Given the description of an element on the screen output the (x, y) to click on. 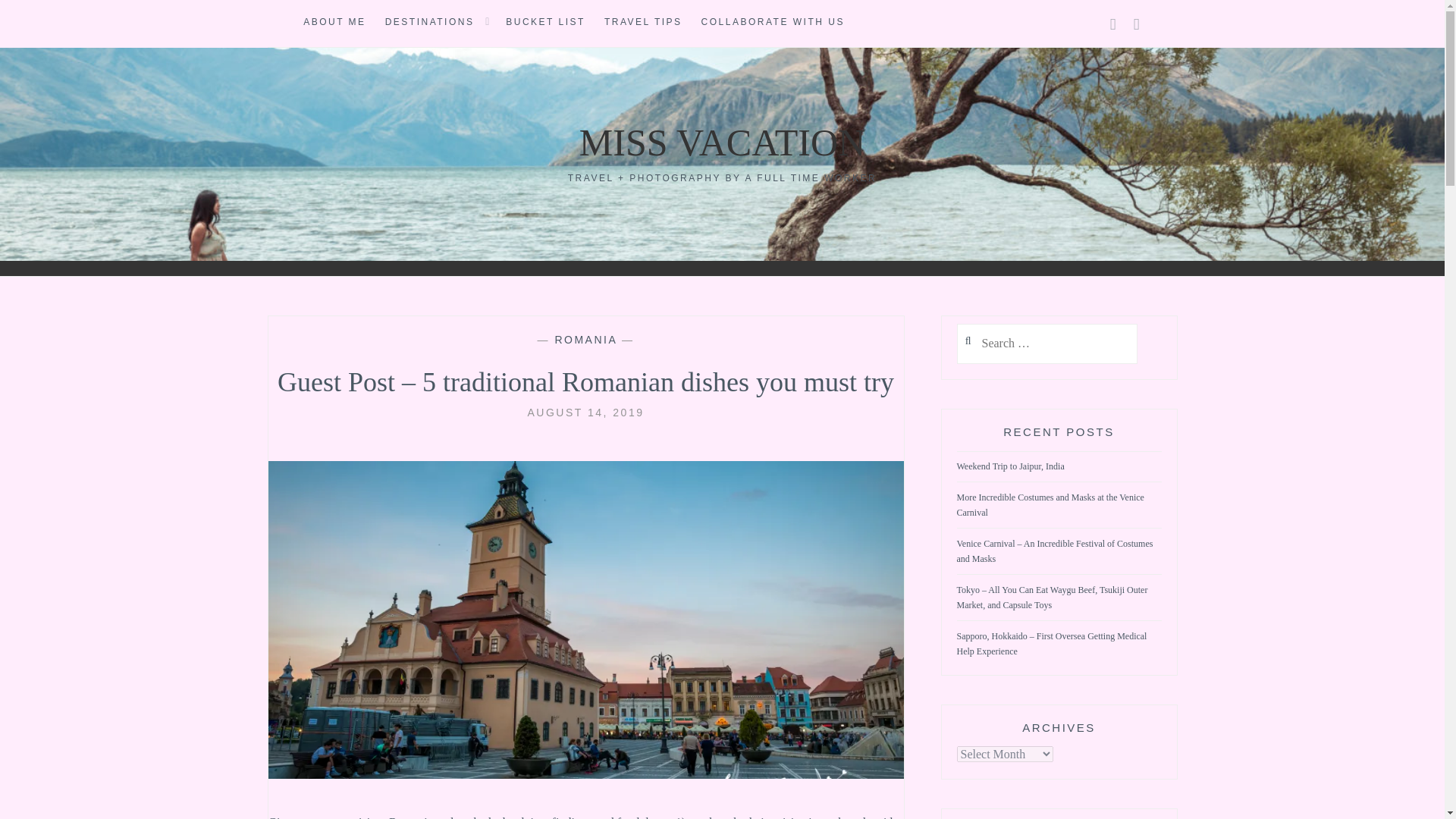
ABOUT ME (333, 22)
DESTINATIONS (429, 22)
